Given the description of an element on the screen output the (x, y) to click on. 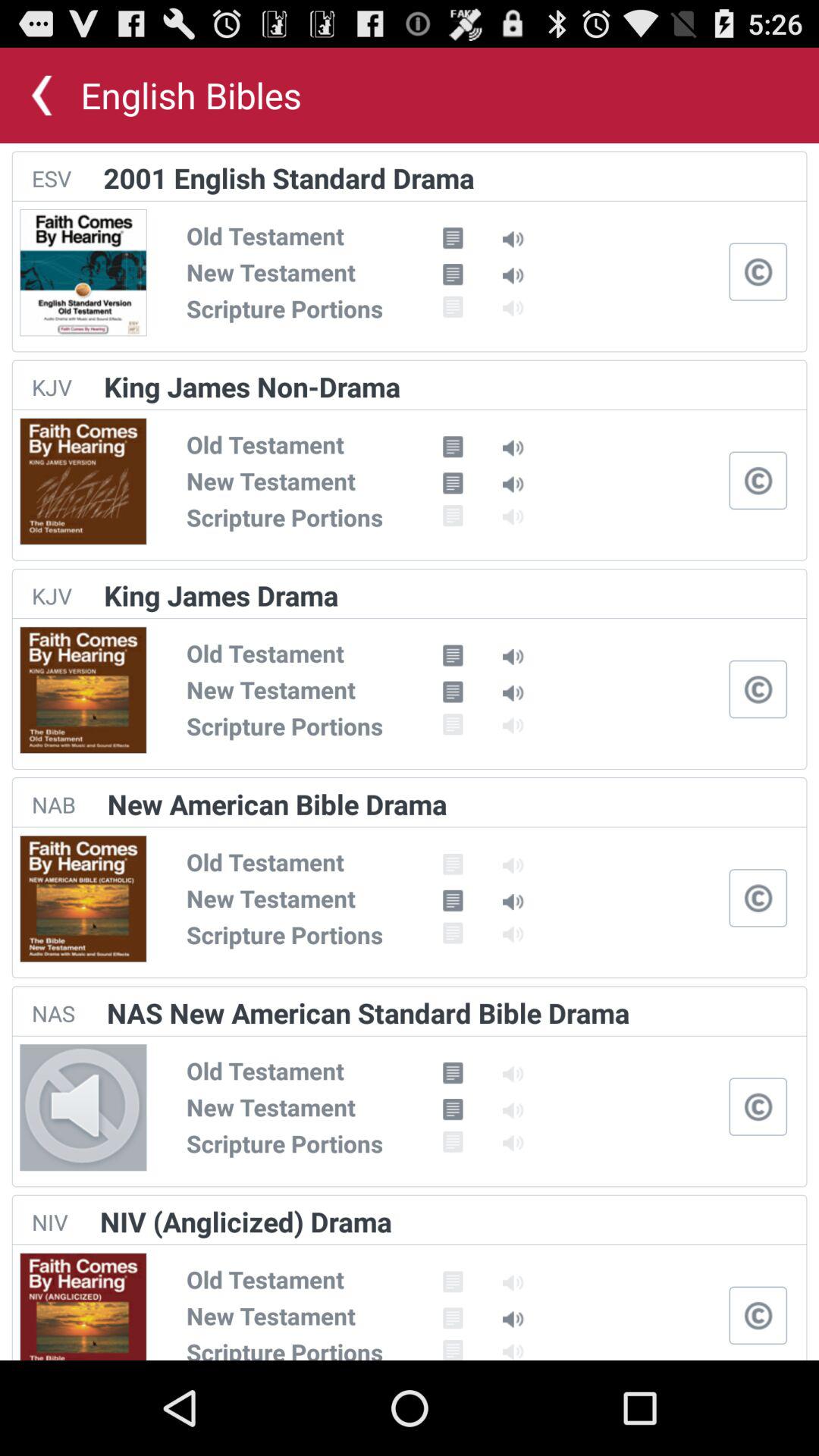
turn on icon to the right of the esv (288, 177)
